Given the description of an element on the screen output the (x, y) to click on. 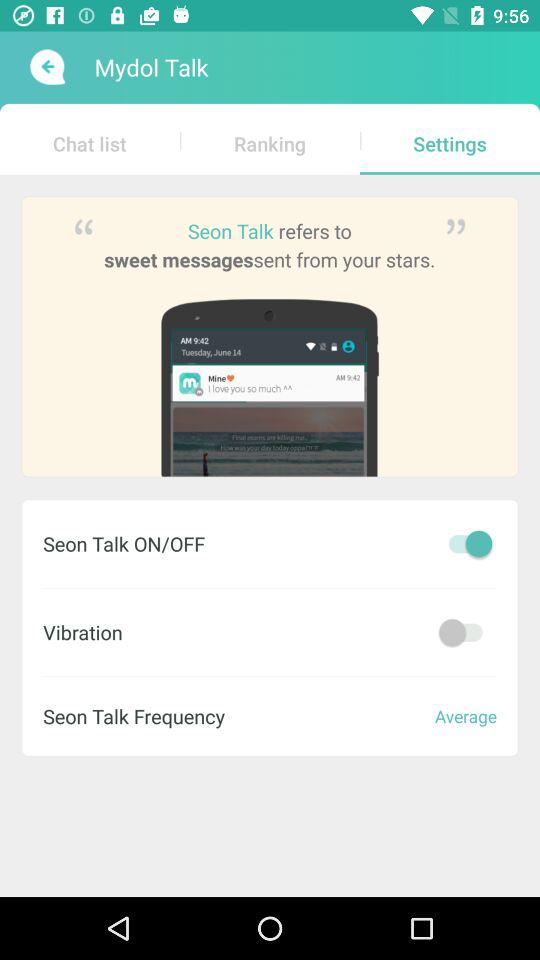
app logo (45, 67)
